Given the description of an element on the screen output the (x, y) to click on. 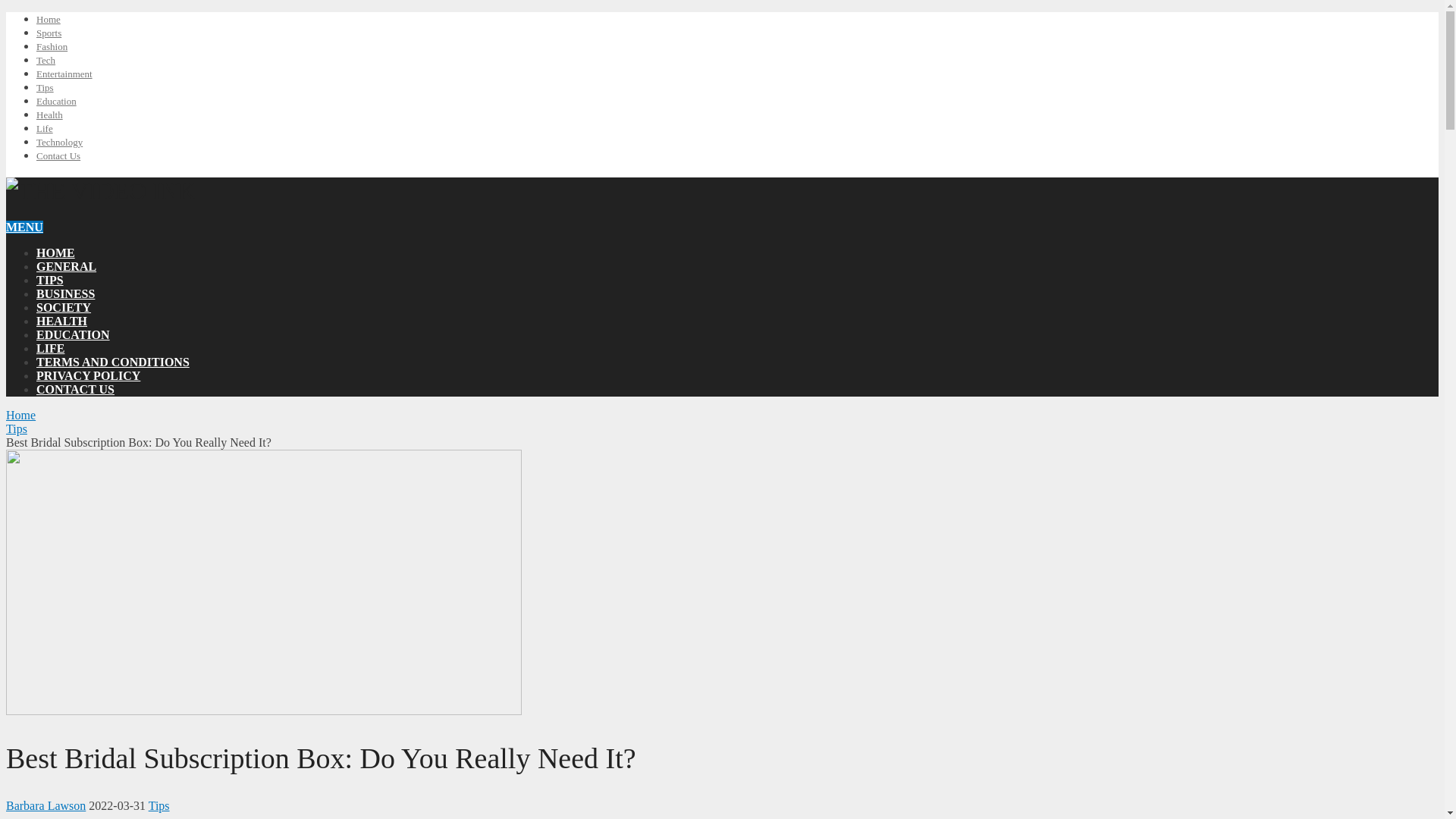
TIPS (50, 279)
HOME (55, 252)
MENU (24, 226)
GENERAL (66, 266)
Contact Us (58, 155)
TERMS AND CONDITIONS (112, 361)
Barbara Lawson (45, 805)
LIFE (50, 348)
Tips (159, 805)
Tech (45, 60)
